Given the description of an element on the screen output the (x, y) to click on. 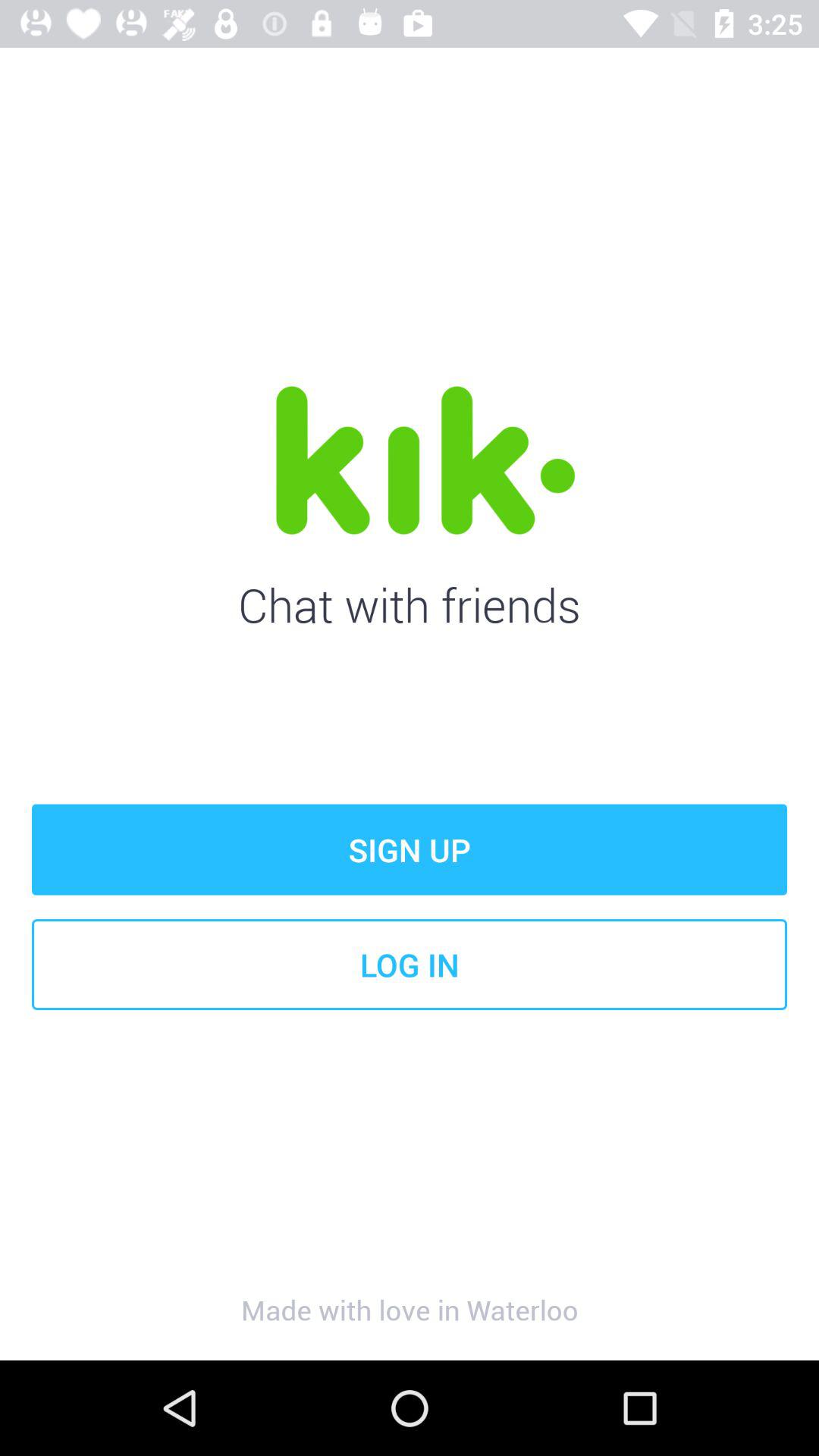
swipe to the sign up (409, 849)
